Given the description of an element on the screen output the (x, y) to click on. 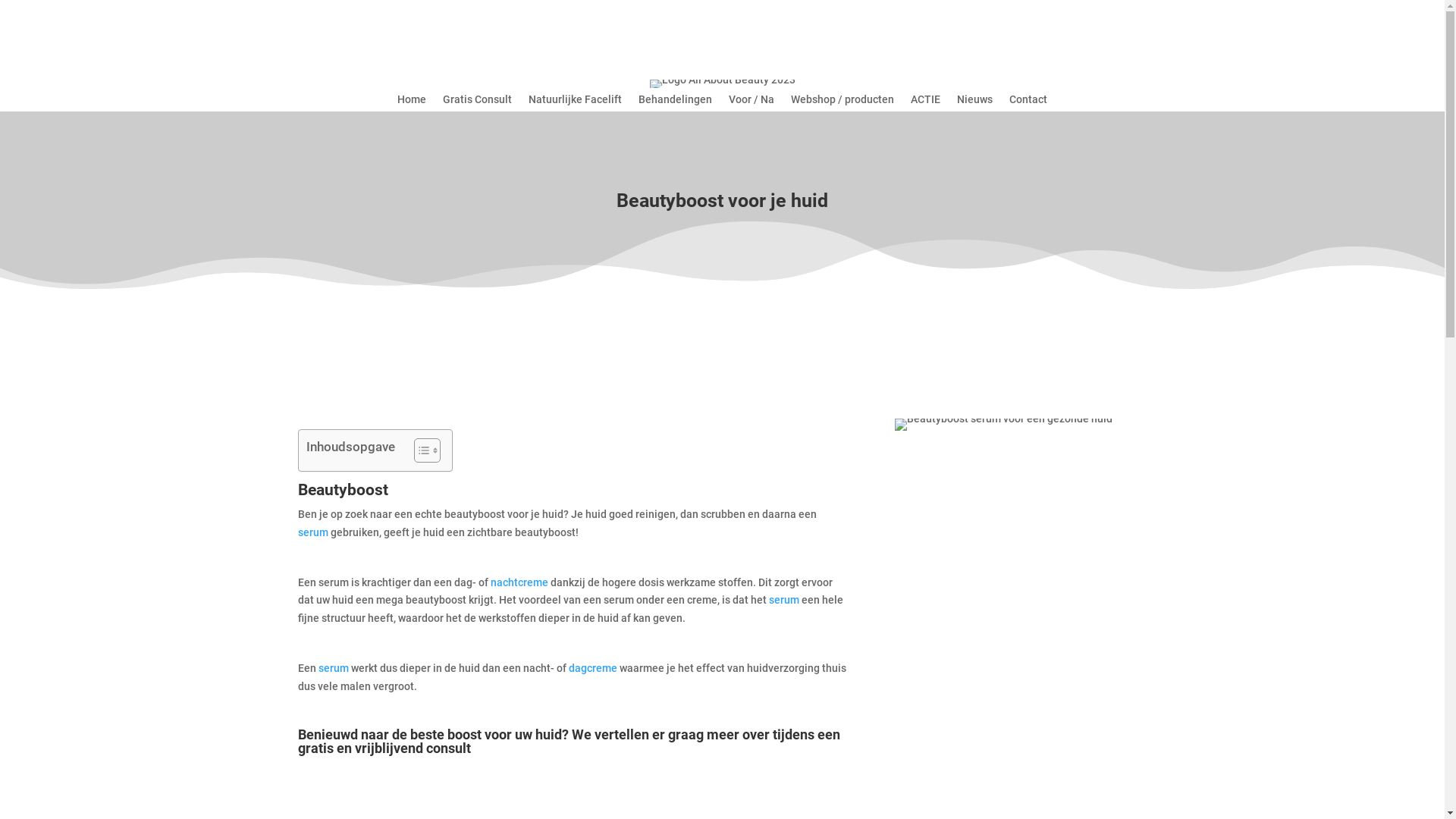
serum Element type: text (333, 668)
nachtcreme Element type: text (518, 582)
Natuurlijke Facelift Element type: text (574, 102)
serum Element type: text (783, 599)
Behandelingen Element type: text (675, 102)
serum Element type: text (312, 532)
ACTIE Element type: text (925, 102)
Logo All About Beauty 2023 Element type: hover (721, 85)
Beautyboost voor je huid Element type: hover (1003, 424)
Contact Element type: text (1028, 102)
Nieuws Element type: text (974, 102)
Home Element type: text (411, 102)
Gratis Consult Element type: text (476, 102)
Voor / Na Element type: text (751, 102)
Webshop / producten Element type: text (842, 102)
dagcreme Element type: text (592, 668)
